Given the description of an element on the screen output the (x, y) to click on. 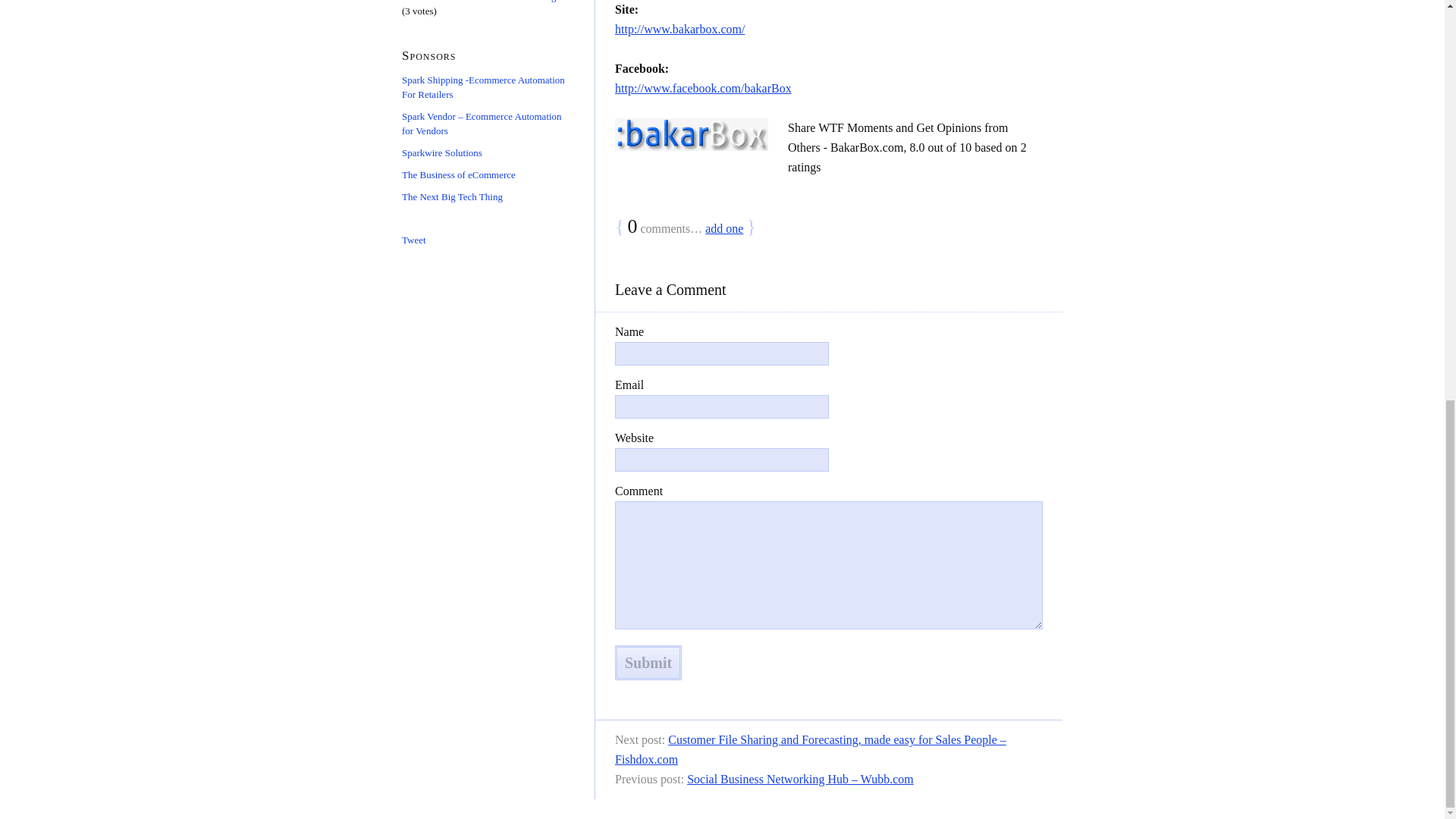
Submit (647, 662)
The Next Big Tech Thing (451, 196)
Submit (647, 662)
CLmetrics.com - Hit Counter for Craigslist (486, 1)
Spark Shipping -Ecommerce Automation For Retailers (482, 86)
Sparkwire Solutions (441, 152)
The Business of eCommerce (458, 173)
add one (723, 227)
